Given the description of an element on the screen output the (x, y) to click on. 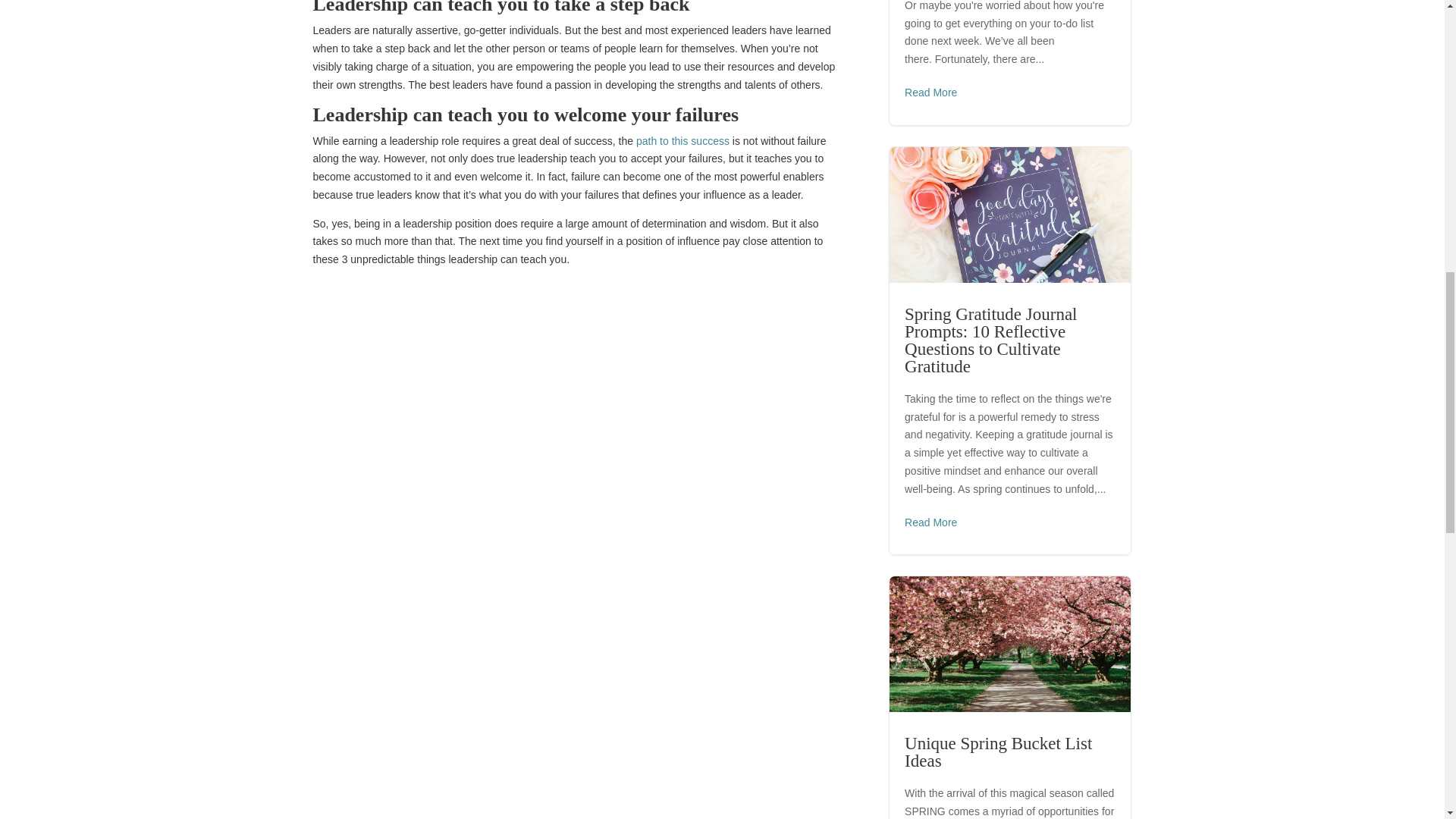
Read More (930, 93)
Read More (930, 523)
path to this success (682, 141)
Unique Spring Bucket List Ideas  (998, 751)
